Given the description of an element on the screen output the (x, y) to click on. 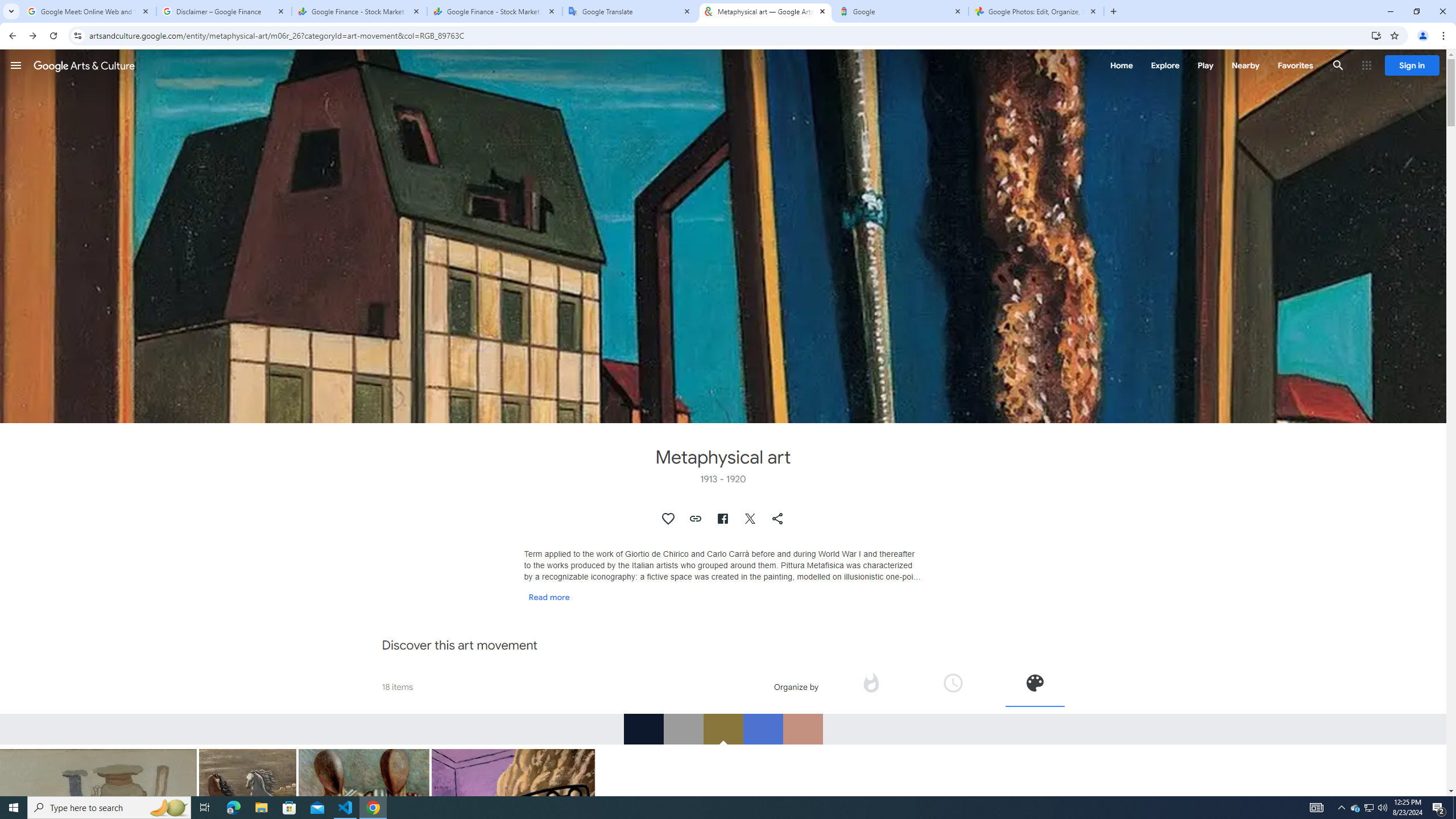
Organize by time (951, 682)
Share on Twitter (750, 518)
Google Translate (630, 11)
RGB_9C9C9C (682, 728)
Share "Metaphysical art" (778, 518)
